Given the description of an element on the screen output the (x, y) to click on. 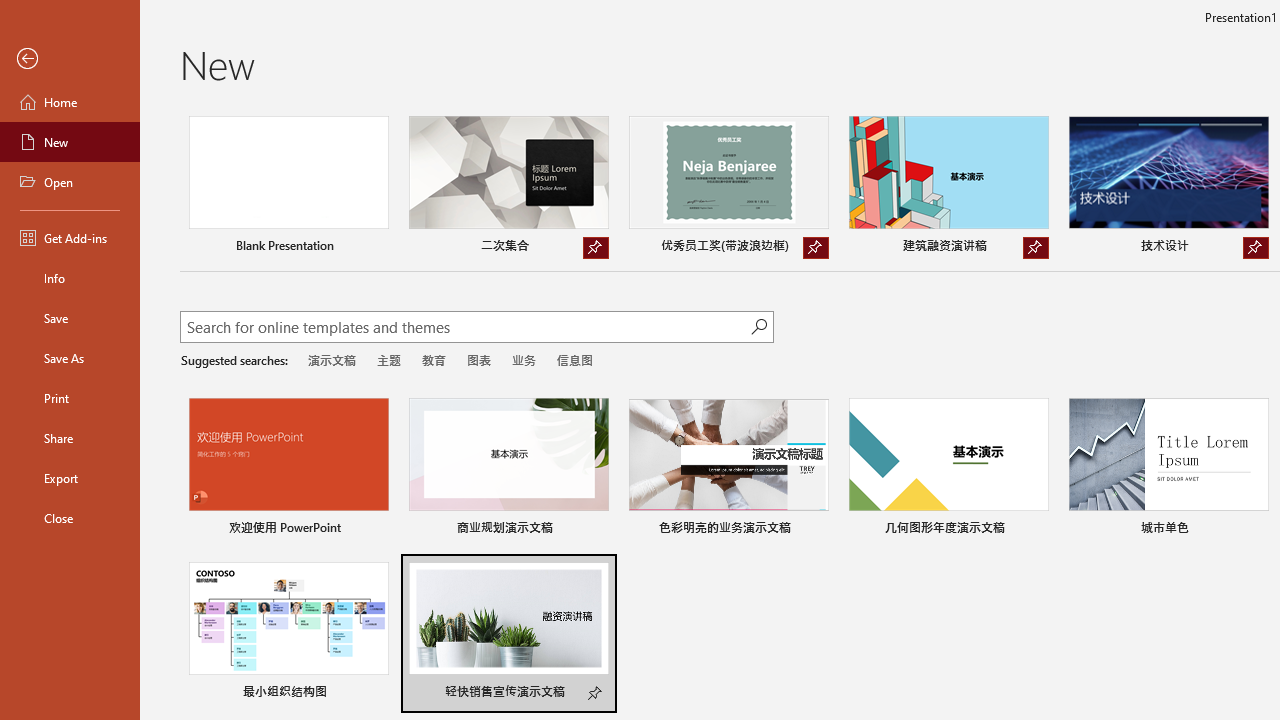
Pin to list (595, 693)
Unpin from list (1255, 247)
Get Add-ins (69, 237)
Info (69, 277)
Blank Presentation (288, 187)
